Given the description of an element on the screen output the (x, y) to click on. 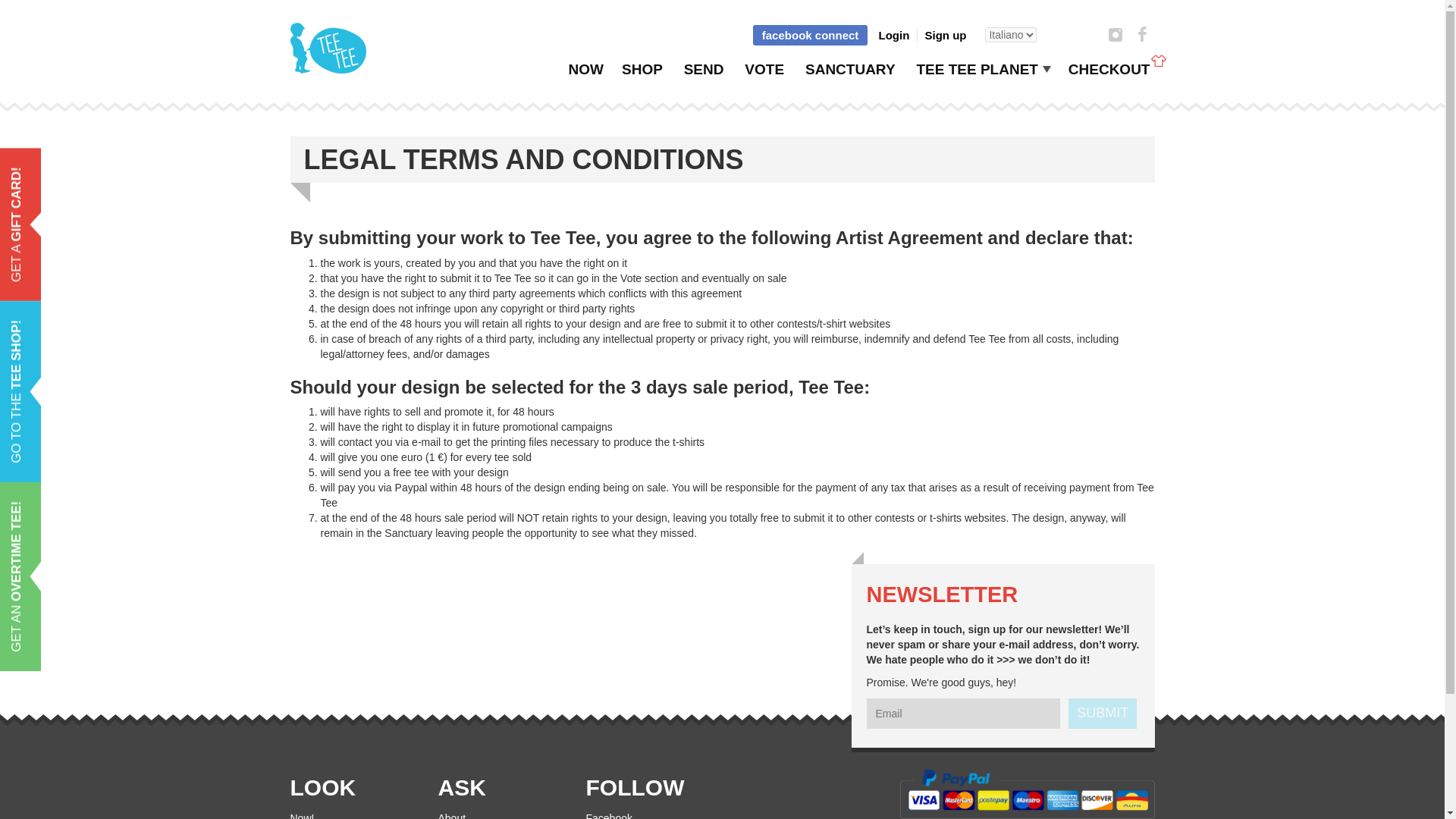
GET A GIFT CARD! (69, 175)
GO TO THE TEE SHOP! (82, 329)
GET AN OVERTIME TEE! (86, 510)
TeeTee (327, 48)
